Given the description of an element on the screen output the (x, y) to click on. 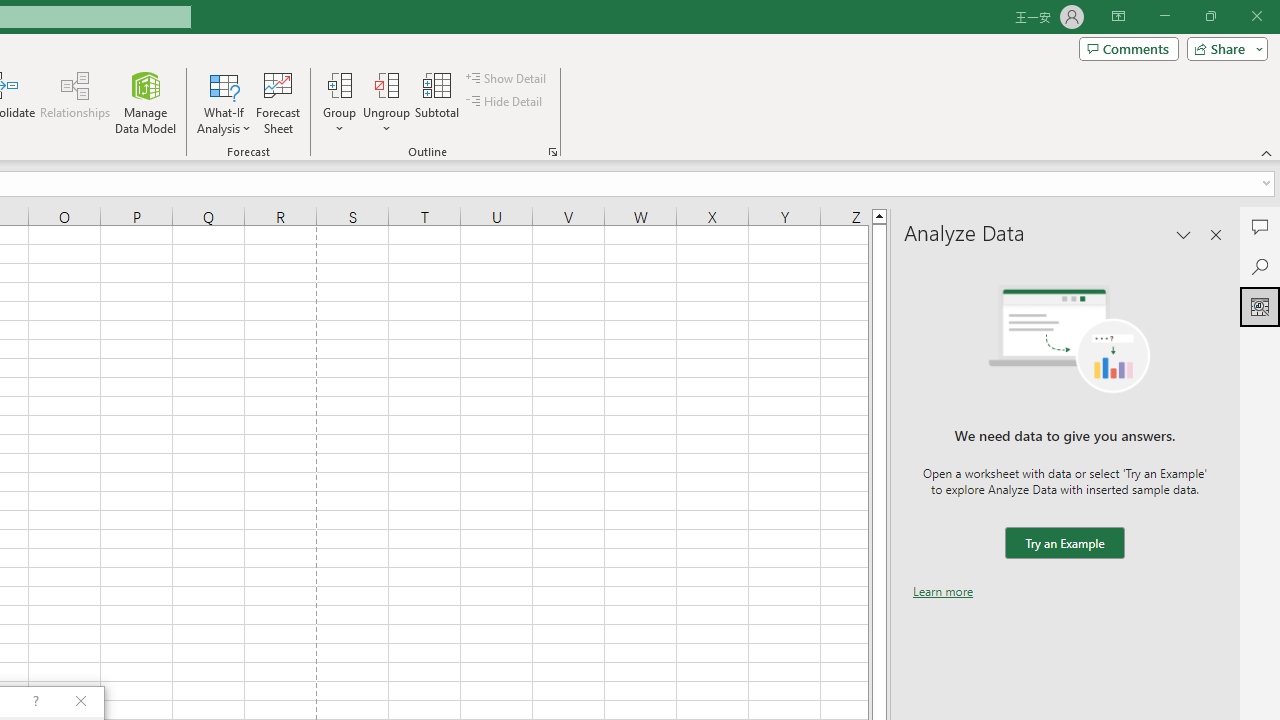
What-If Analysis (223, 102)
We need data to give you answers. Try an Example (1064, 543)
Line up (879, 215)
Show Detail (507, 78)
Minimize (1164, 16)
Search (1260, 266)
Forecast Sheet (278, 102)
Task Pane Options (1183, 234)
Close (1256, 16)
Comments (1260, 226)
Ungroup... (386, 84)
Manage Data Model (145, 102)
More Options (386, 121)
